Given the description of an element on the screen output the (x, y) to click on. 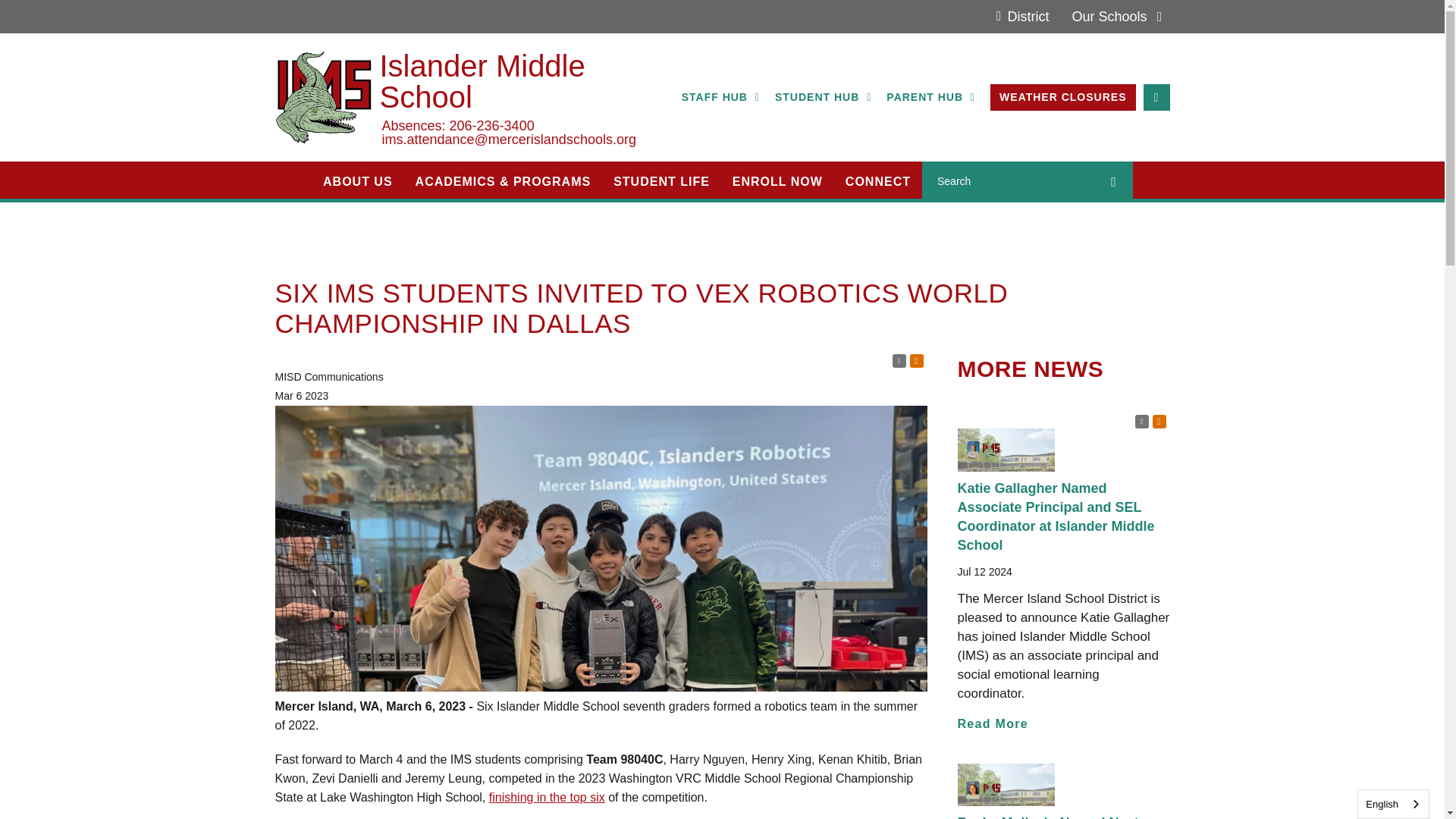
Alerts (916, 360)
RSS (1141, 421)
RSS (898, 360)
Alerts (1159, 421)
